Given the description of an element on the screen output the (x, y) to click on. 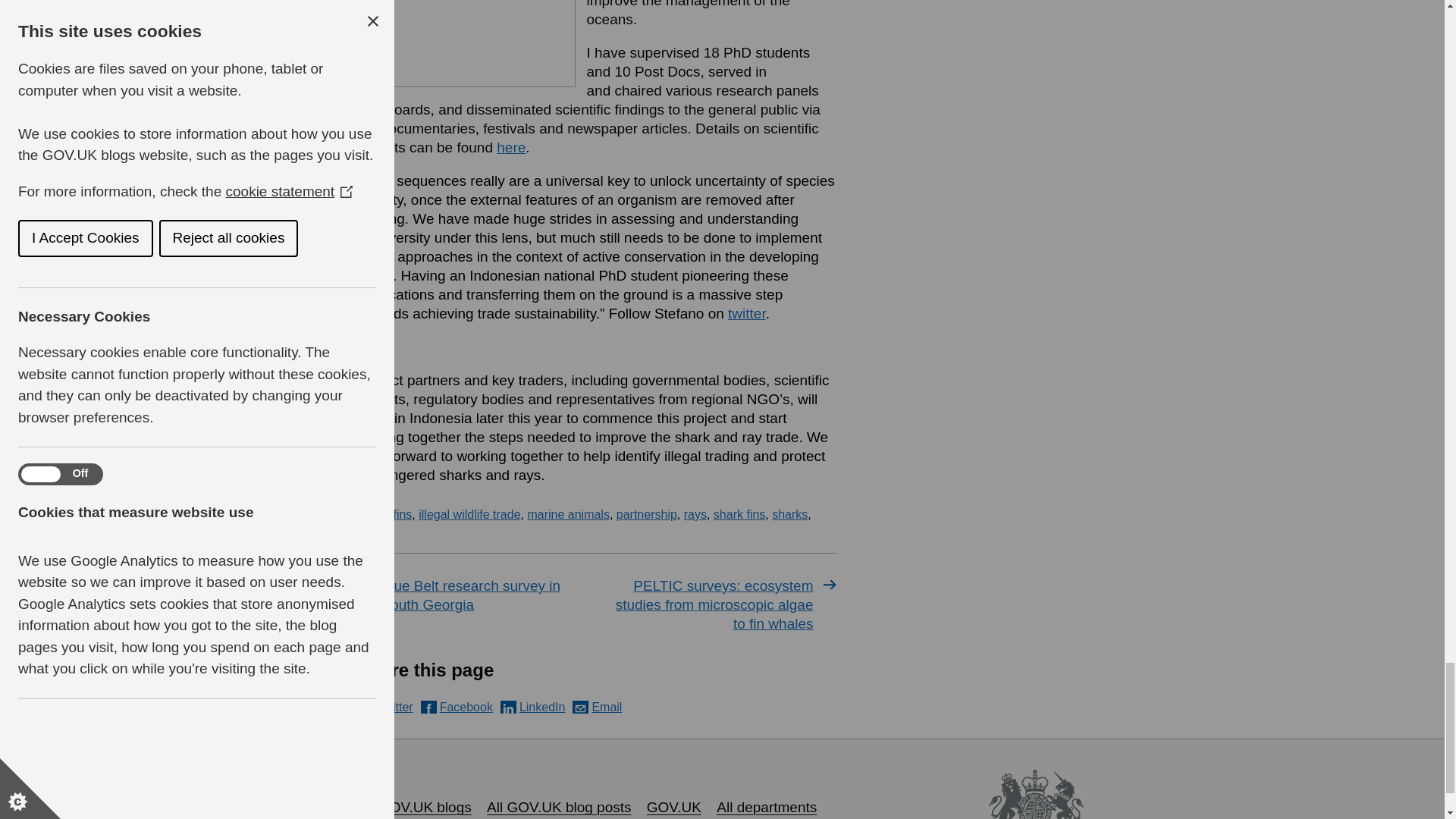
partnership (646, 513)
here (510, 147)
rays (695, 513)
shark fins (739, 513)
sharks (789, 513)
illegal wildlife trade (469, 513)
marine animals (567, 513)
twitter (746, 313)
fins (402, 513)
